Given the description of an element on the screen output the (x, y) to click on. 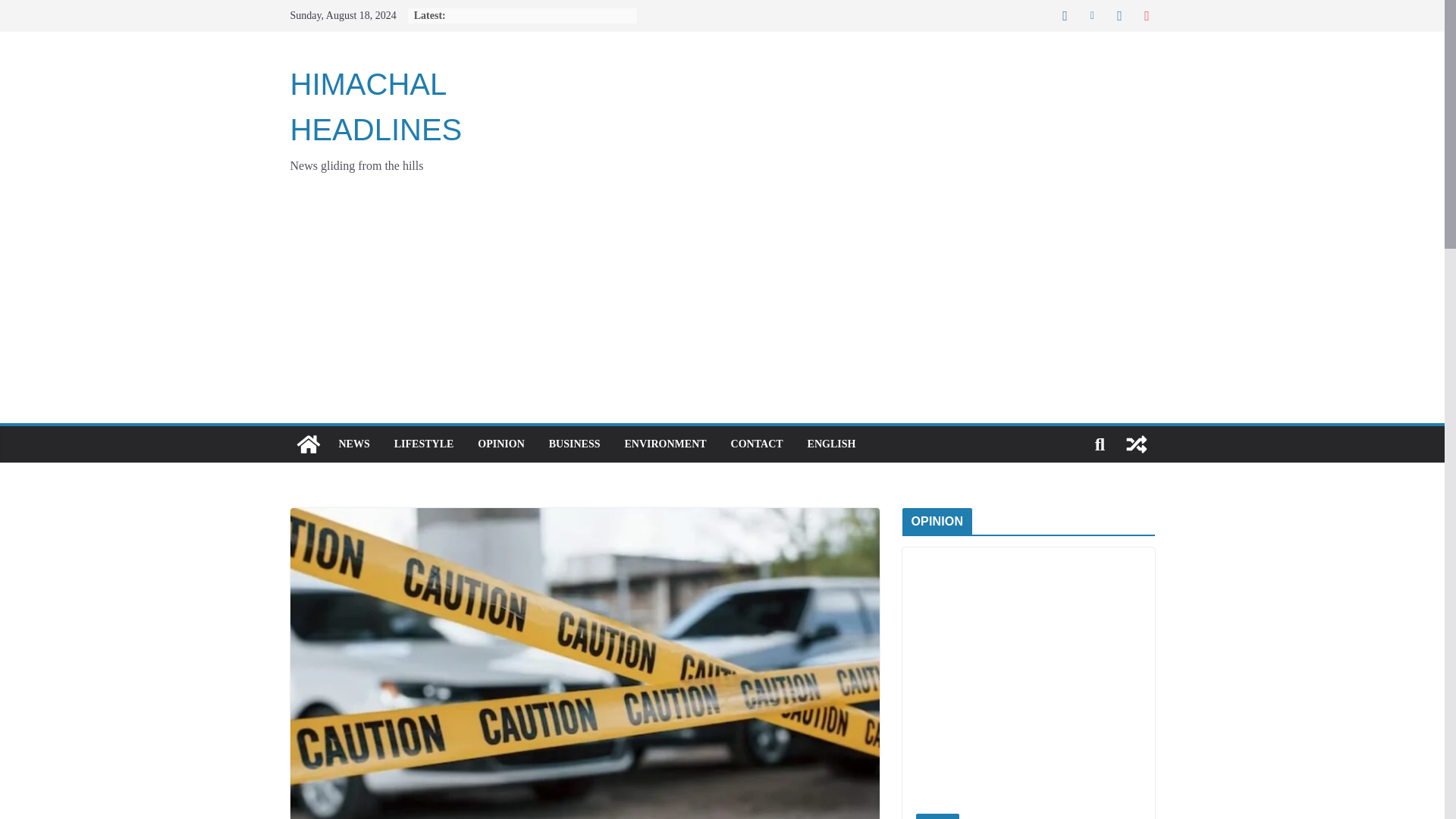
NEWS (353, 444)
OPINION (500, 444)
LIFESTYLE (424, 444)
CONTACT (756, 444)
HIMACHAL HEADLINES (307, 443)
ENGLISH (832, 444)
HIMACHAL HEADLINES (375, 106)
HIMACHAL HEADLINES (375, 106)
ENVIRONMENT (665, 444)
BUSINESS (573, 444)
